Given the description of an element on the screen output the (x, y) to click on. 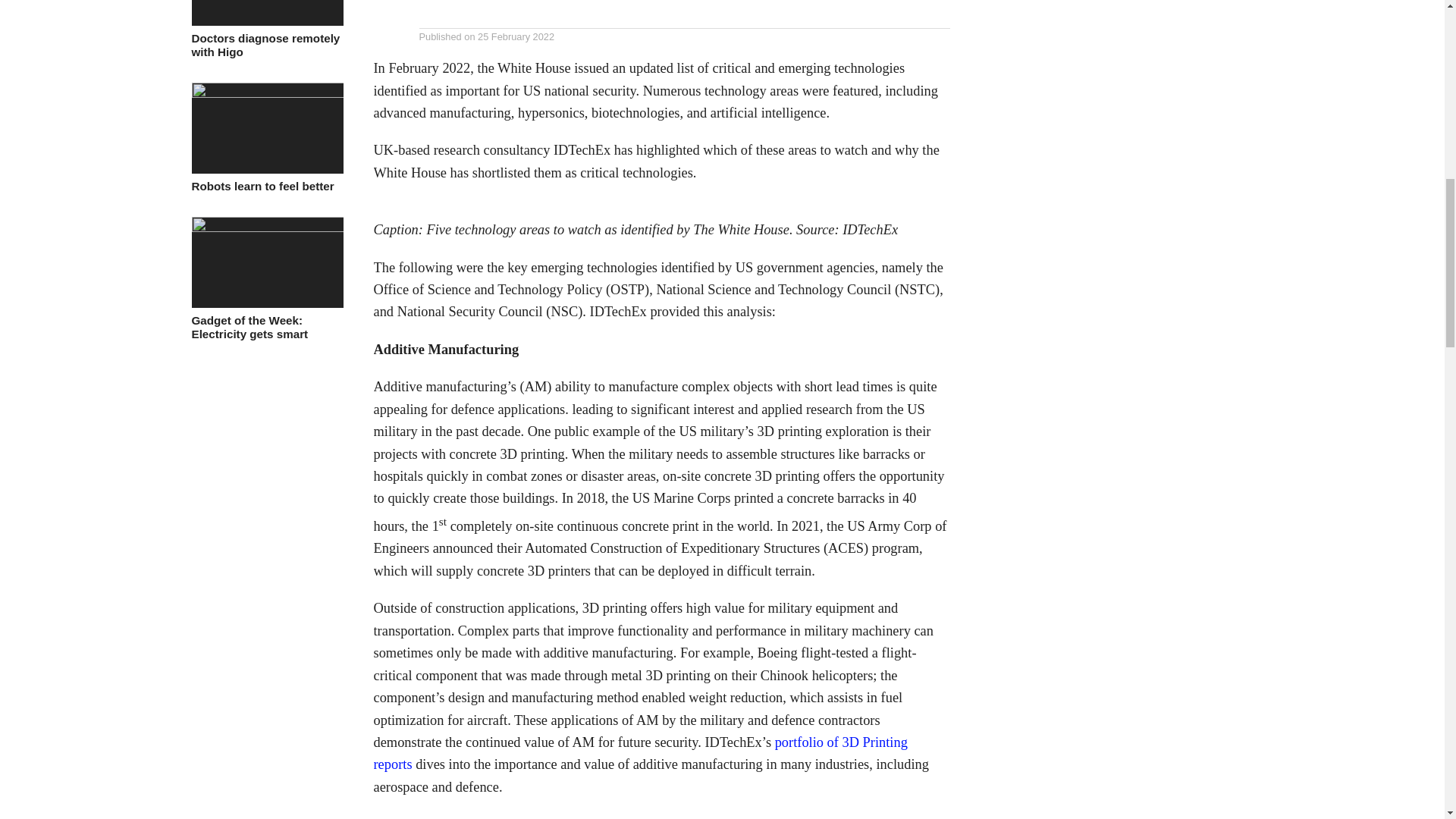
Robots learn to feel better (266, 186)
Doctors diagnose remotely with Higo (266, 45)
Robots learn to feel better (266, 92)
Gadget of the Week: Electricity gets smart (266, 327)
Gadget of the Week: Electricity gets smart (266, 227)
